Given the description of an element on the screen output the (x, y) to click on. 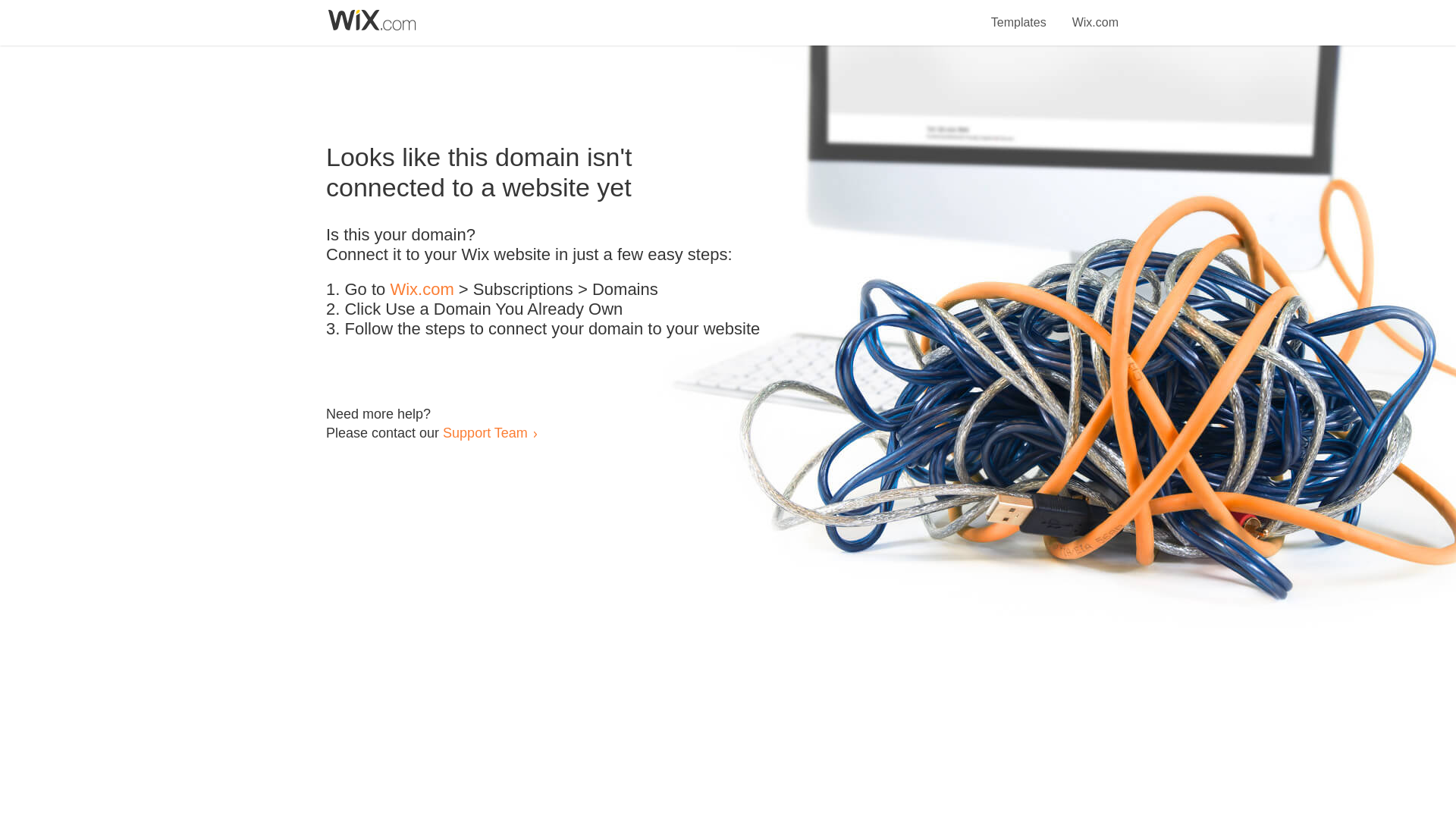
Wix.com (1095, 14)
Templates (1018, 14)
Support Team (484, 432)
Wix.com (421, 289)
